Given the description of an element on the screen output the (x, y) to click on. 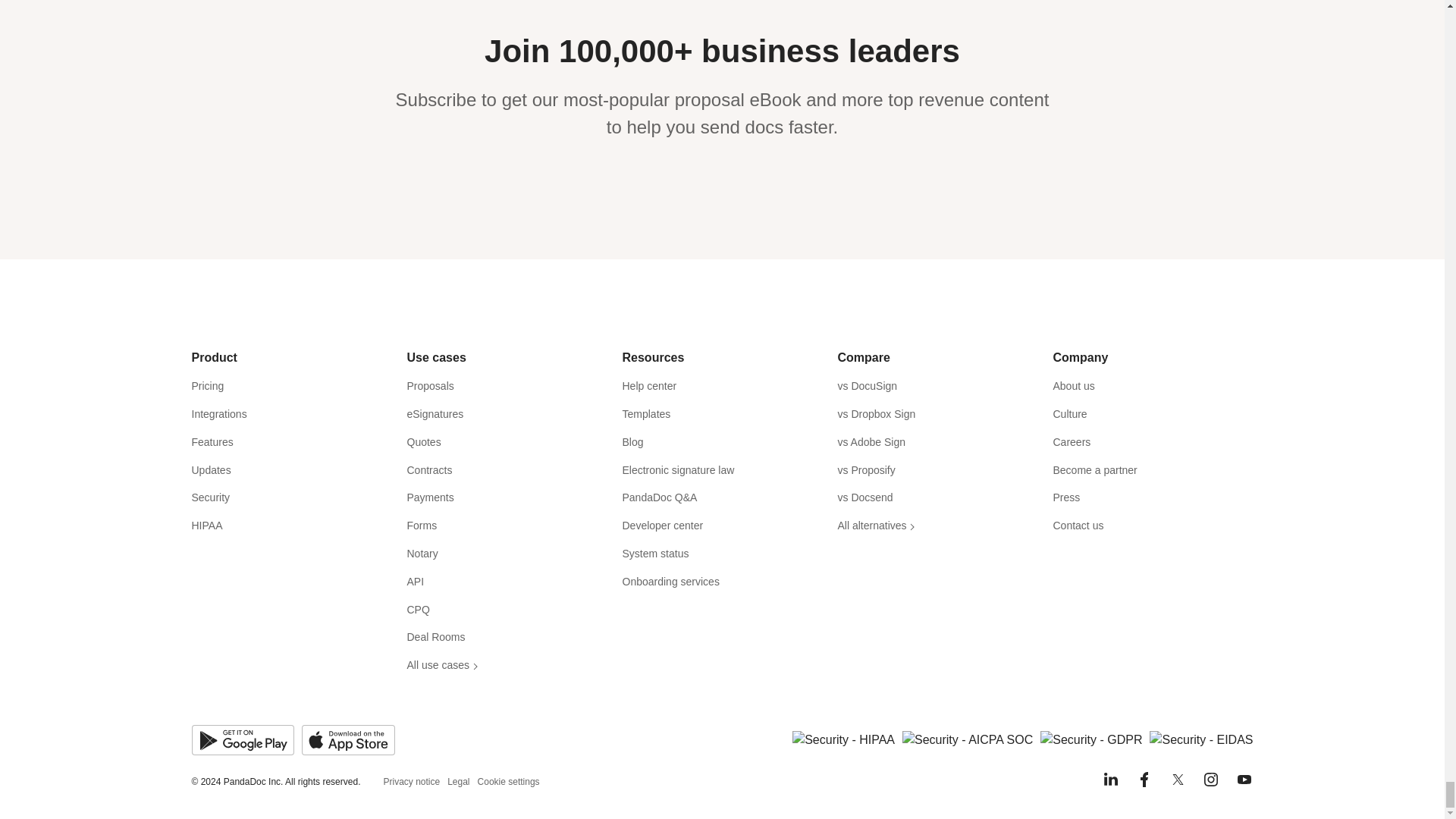
Facebook (1143, 779)
LinkedIn (1109, 779)
Twitter (1176, 779)
Youtube (1243, 779)
Instagram (1210, 779)
